Given the description of an element on the screen output the (x, y) to click on. 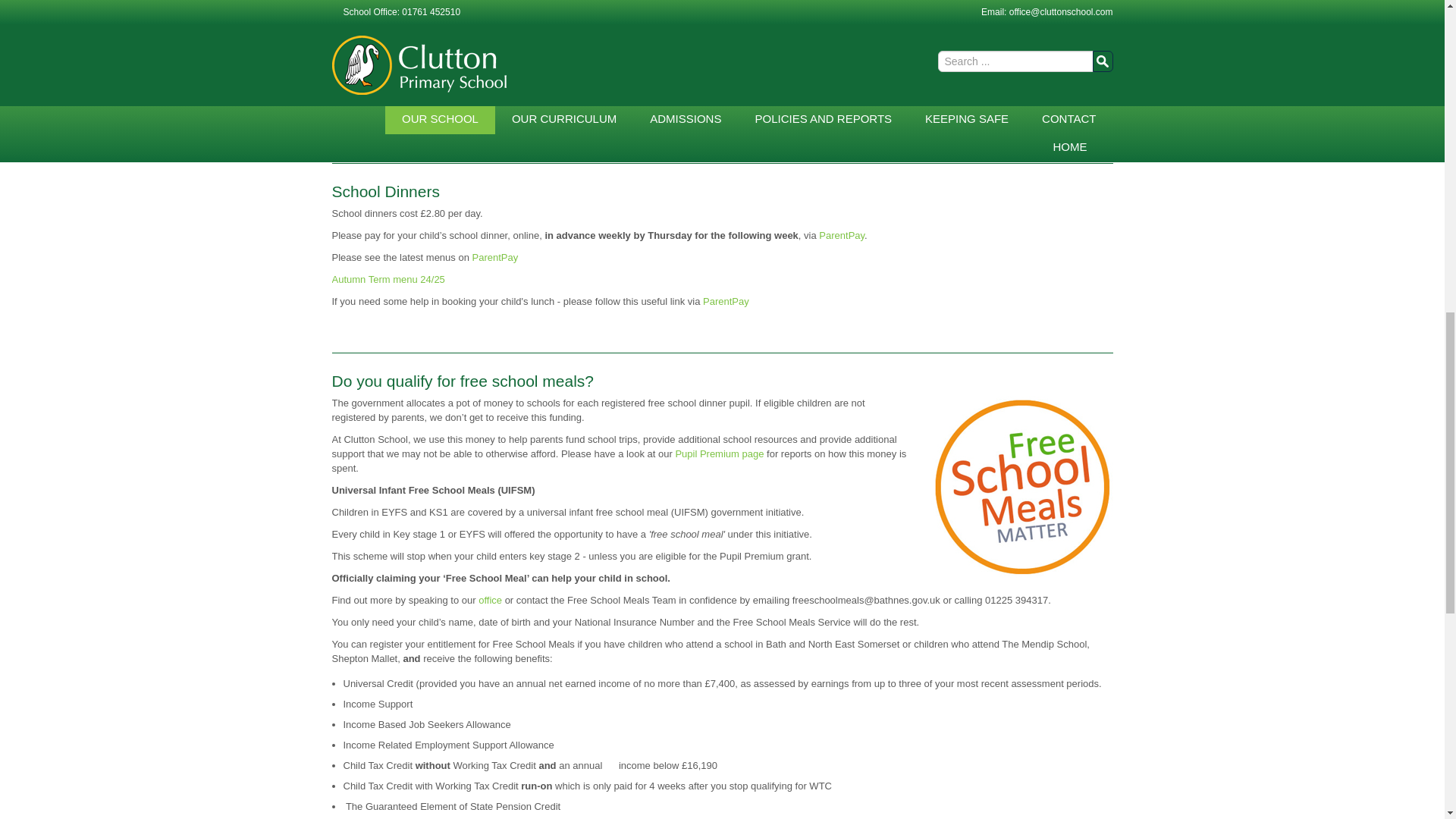
ParentPay (841, 235)
